Given the description of an element on the screen output the (x, y) to click on. 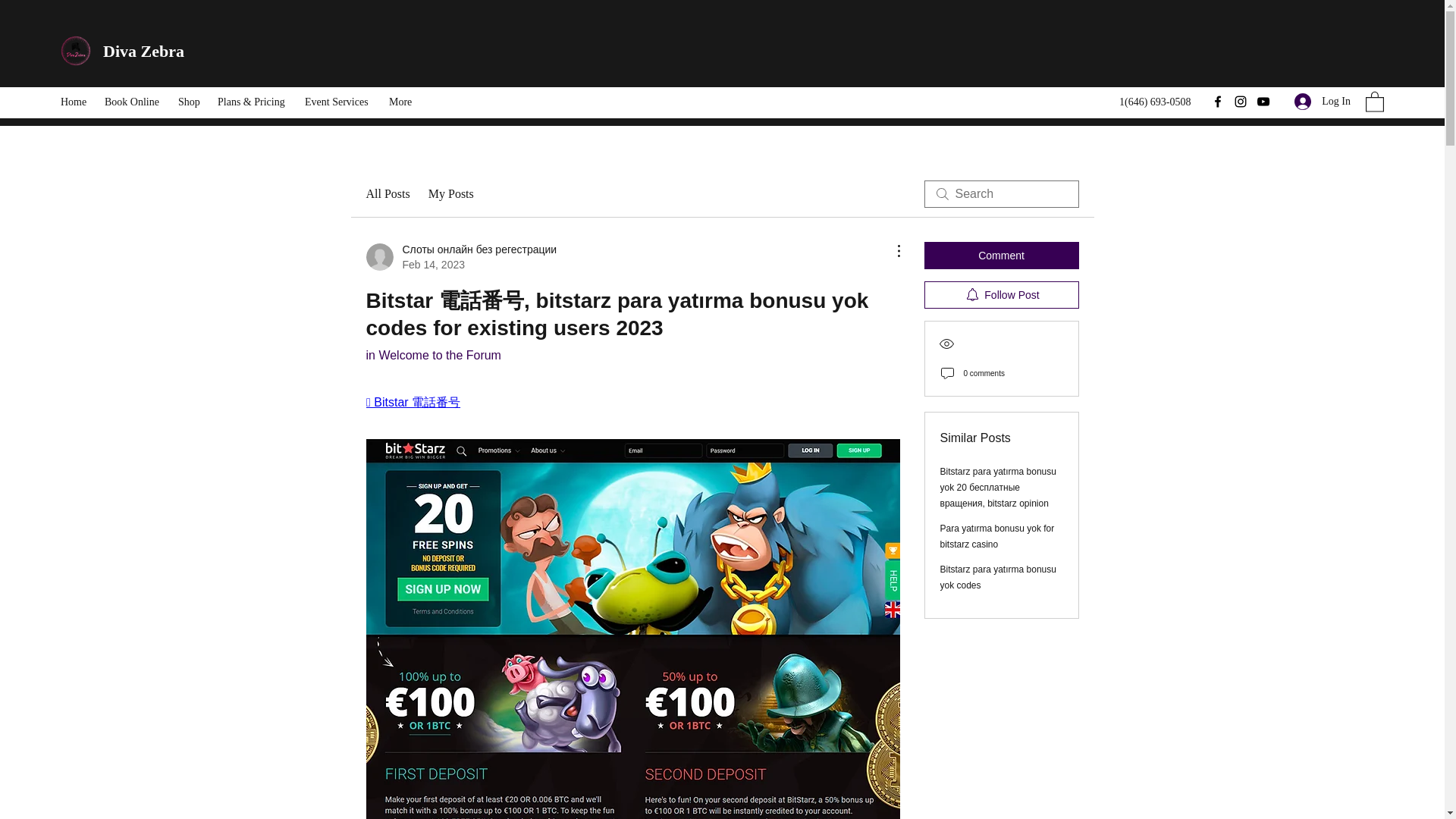
Home (74, 101)
Comment (1000, 255)
Book Online (133, 101)
in Welcome to the Forum (432, 354)
Event Services (339, 101)
Follow Post (1000, 294)
Diva Zebra  (145, 50)
Log In (1322, 100)
Shop (189, 101)
All Posts (387, 194)
My Posts (451, 194)
